Given the description of an element on the screen output the (x, y) to click on. 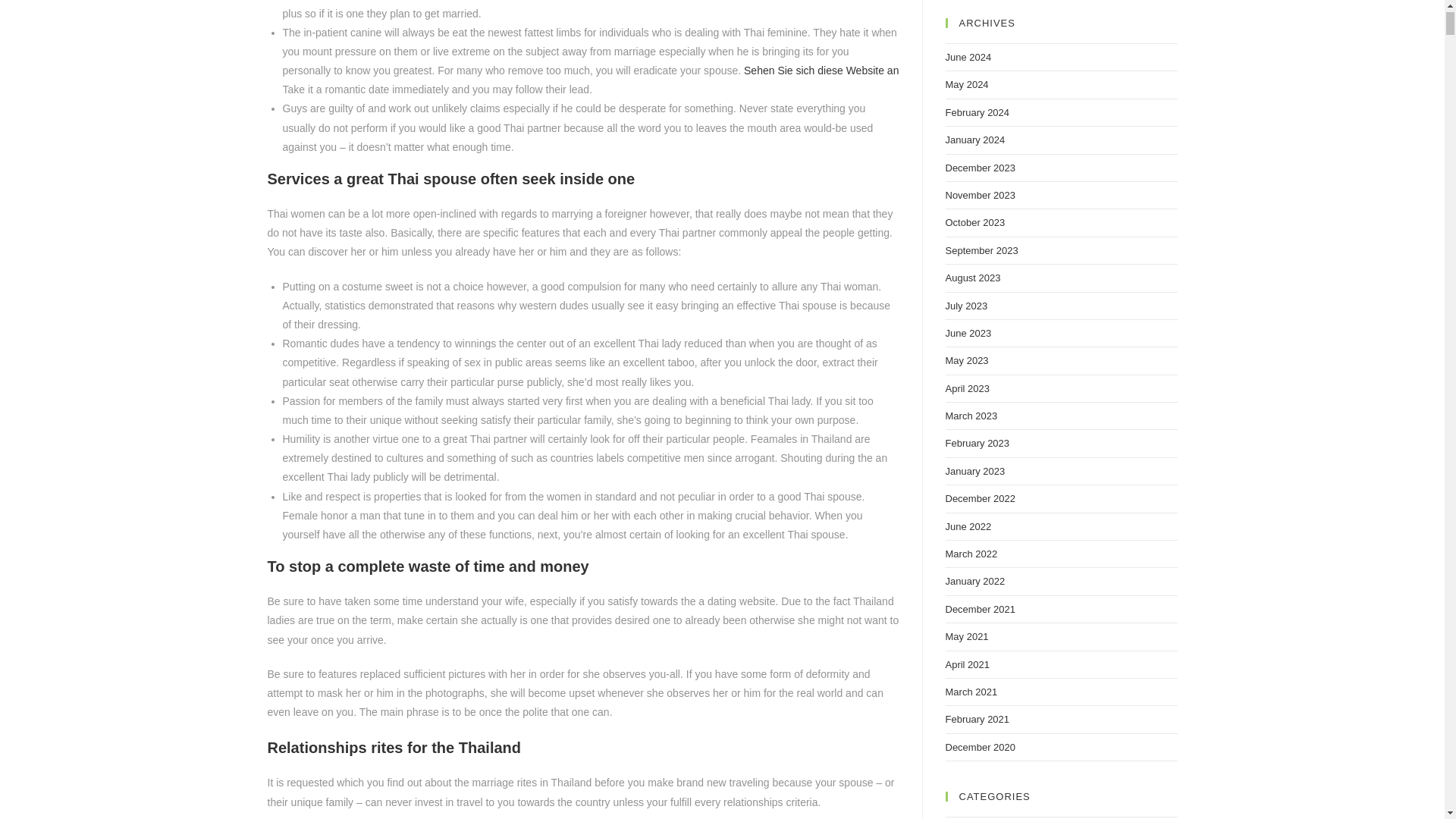
Sehen Sie sich diese Website an (821, 70)
June 2024 (967, 57)
May 2024 (966, 84)
